Given the description of an element on the screen output the (x, y) to click on. 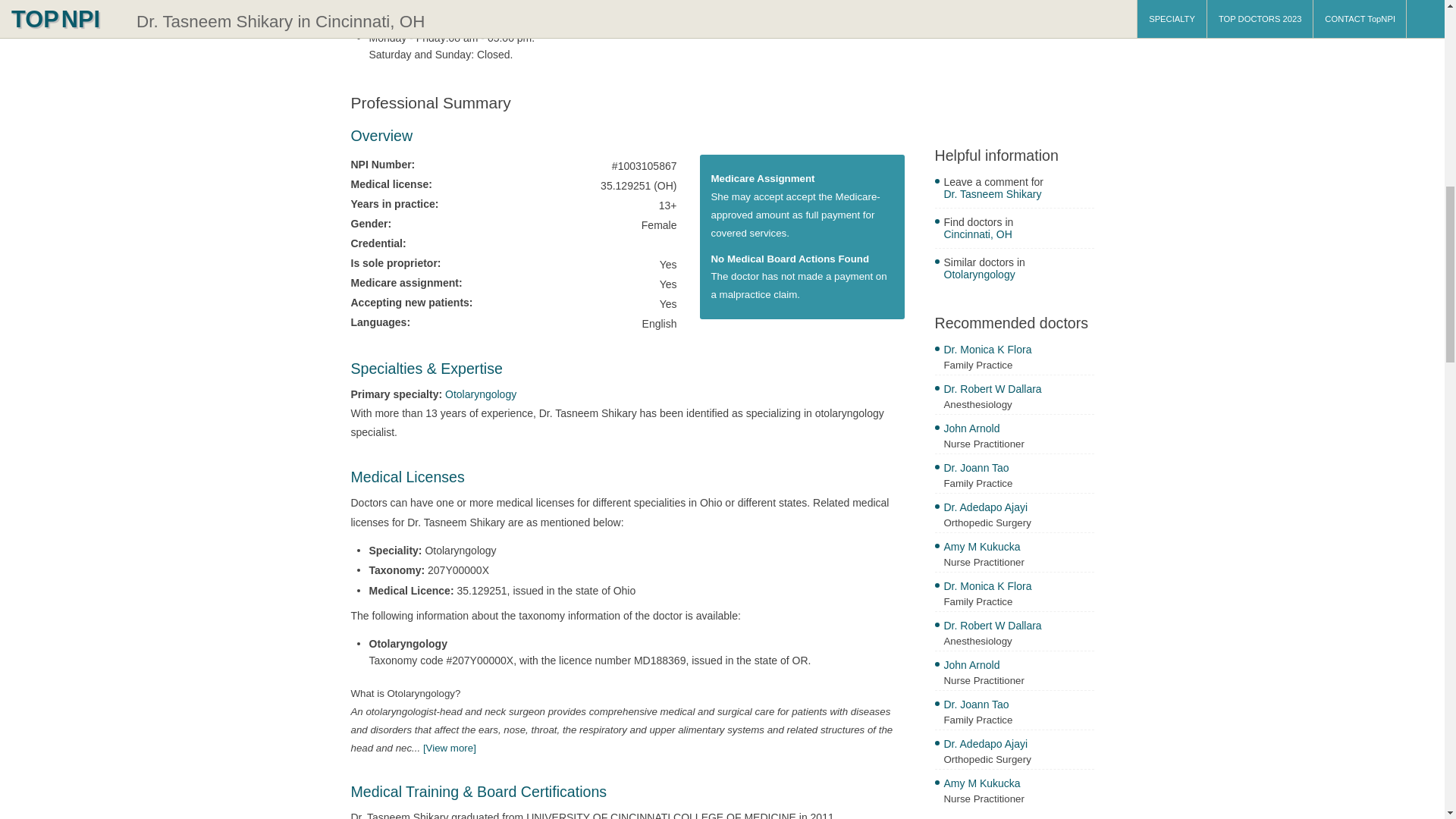
John Arnold (1018, 430)
Otolaryngology (480, 394)
Dr. Monica K Flora (1018, 587)
Otolaryngology (1018, 276)
Health Care Provider Taxonomy Code (449, 747)
Amy M Kukucka (1018, 785)
Otolaryngology (480, 394)
Dr. Tasneem Shikary (1018, 195)
Dr. Robert W Dallara (1018, 390)
Dr. Adedapo Ajayi (1018, 745)
Dr. Joann Tao (1018, 469)
Dr. Robert W Dallara (1018, 627)
John Arnold (1018, 666)
Amy M Kukucka (1018, 548)
Cincinnati, OH (1018, 236)
